Given the description of an element on the screen output the (x, y) to click on. 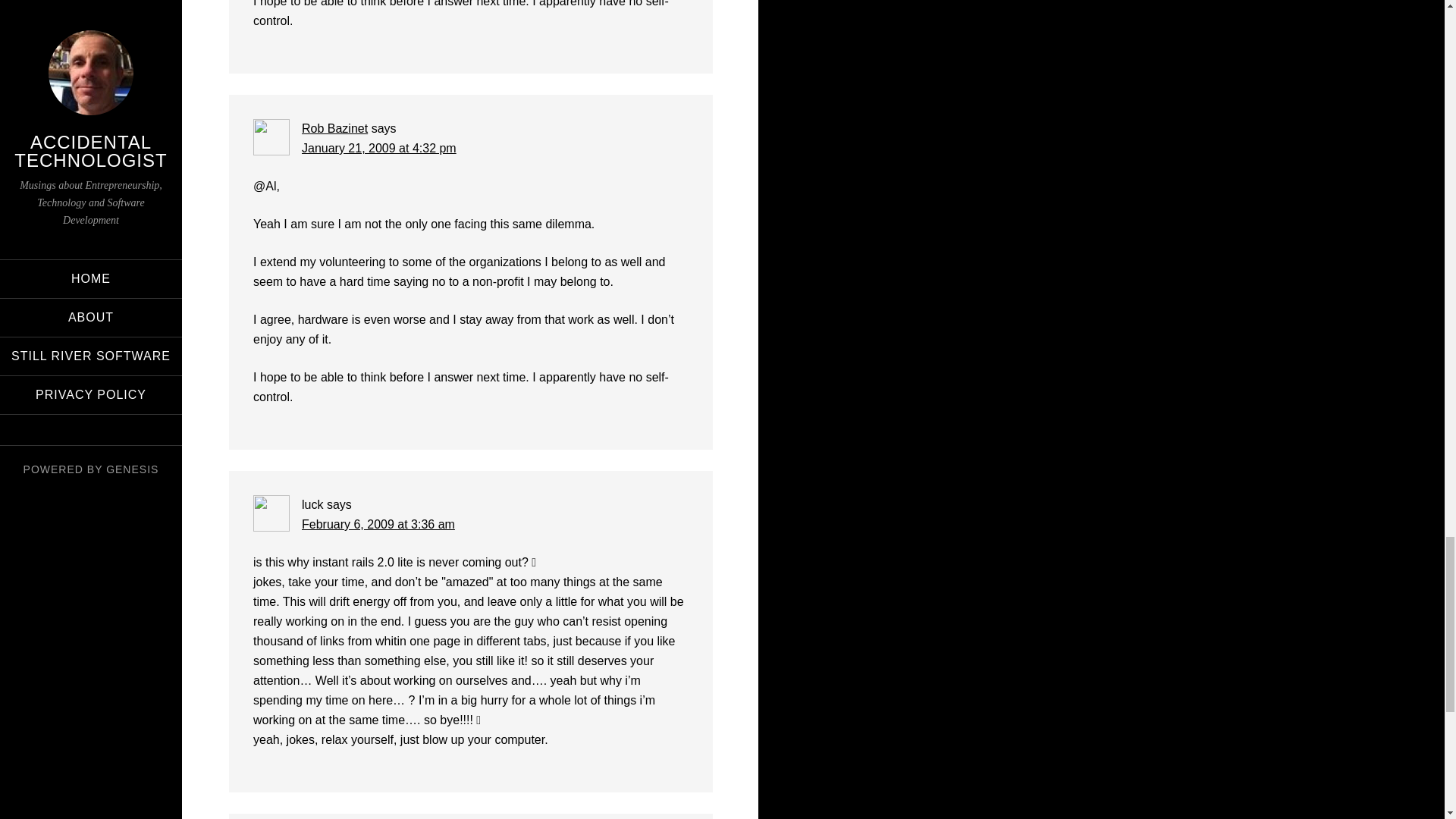
Rob Bazinet (334, 128)
February 6, 2009 at 3:36 am (377, 523)
January 21, 2009 at 4:32 pm (379, 147)
